Given the description of an element on the screen output the (x, y) to click on. 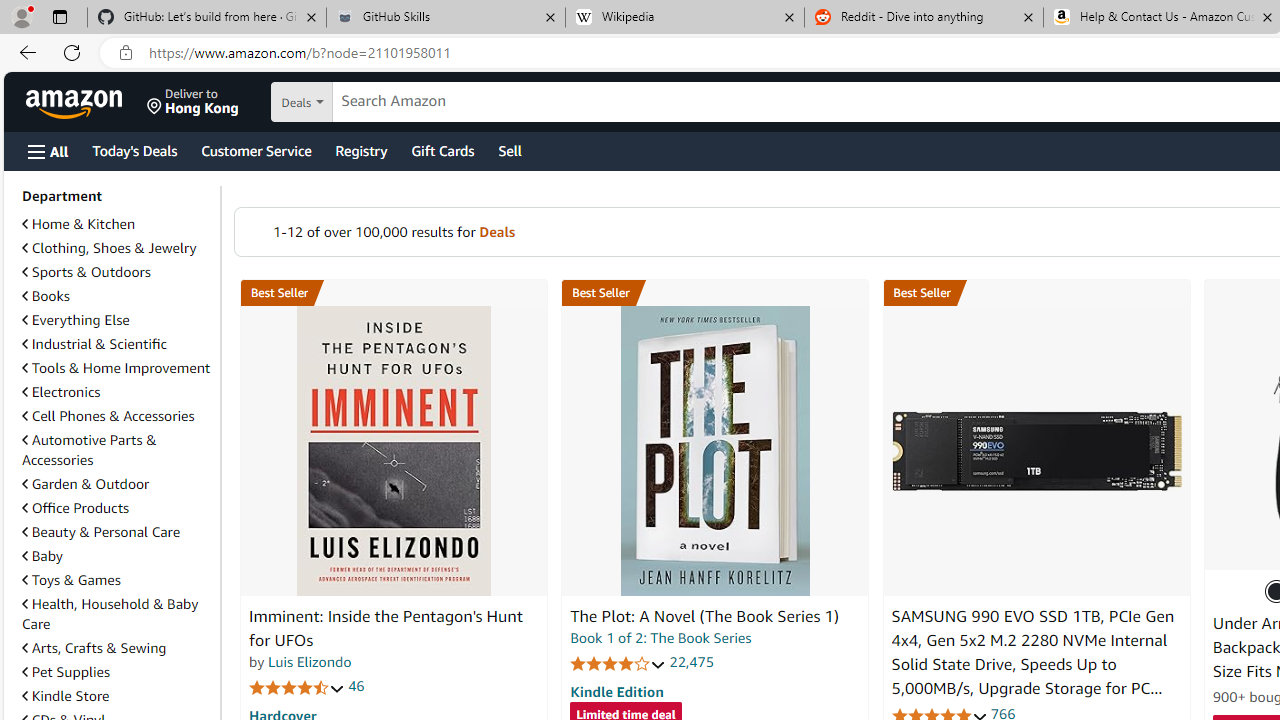
Office Products (75, 507)
22,475 (691, 662)
Wikipedia (684, 17)
Customer Service (256, 150)
Kindle Store (117, 696)
Imminent: Inside the Pentagon's Hunt for UFOs (386, 628)
4.7 out of 5 stars (297, 686)
Kindle Edition (616, 691)
The Plot: A Novel (The Book Series 1) (714, 451)
Health, Household & Baby Care (117, 614)
Best Seller in Internal Solid State Drives (1036, 293)
Deliver to Hong Kong (193, 101)
Electronics (117, 391)
Industrial & Scientific (117, 344)
